Given the description of an element on the screen output the (x, y) to click on. 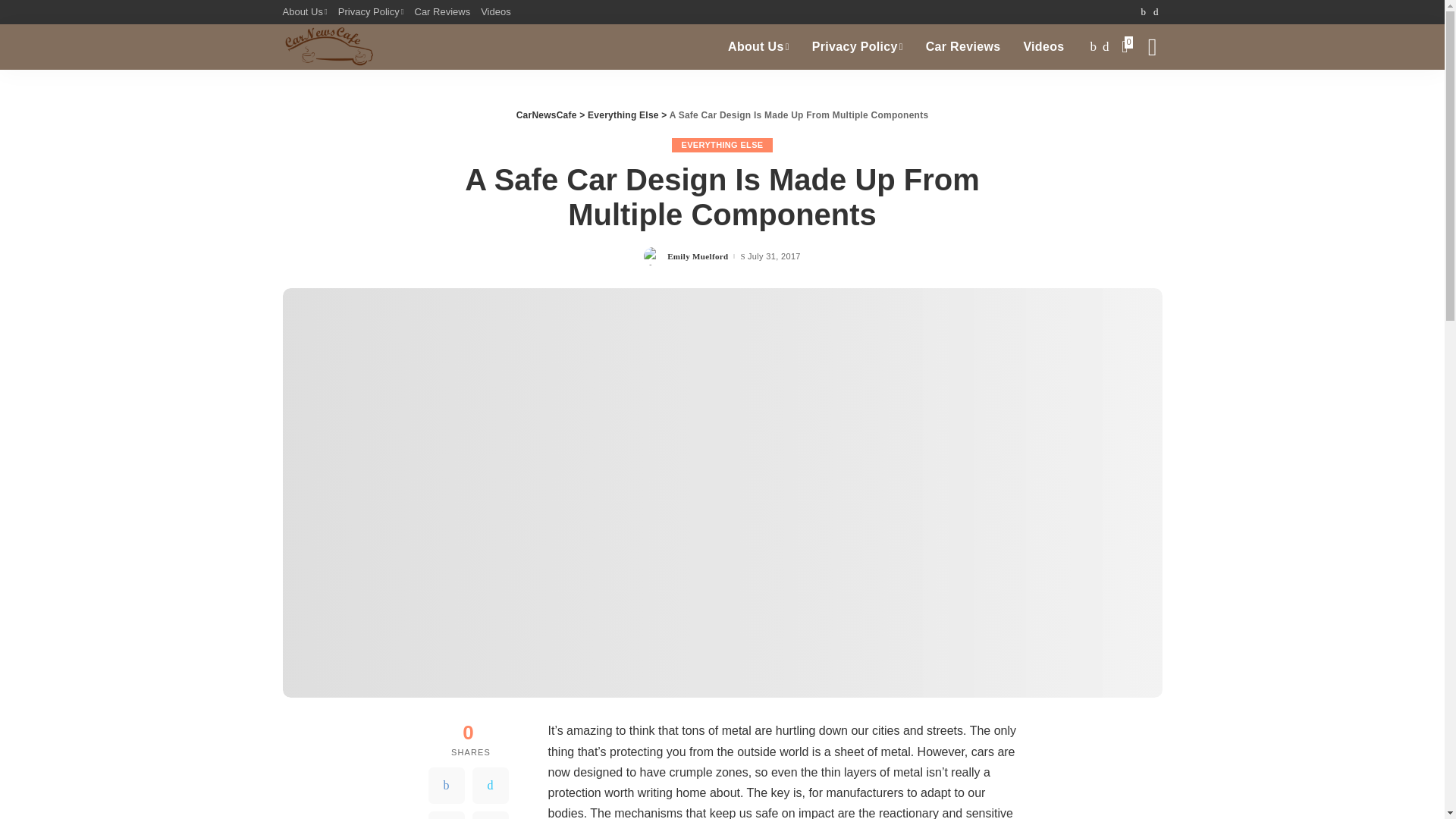
Car Reviews (962, 46)
Search (1140, 97)
Car Reviews (442, 12)
About Us (306, 12)
Videos (496, 12)
Privacy Policy (371, 12)
Privacy Policy (857, 46)
CarNewsCafe (328, 46)
About Us (758, 46)
Videos (1043, 46)
